Given the description of an element on the screen output the (x, y) to click on. 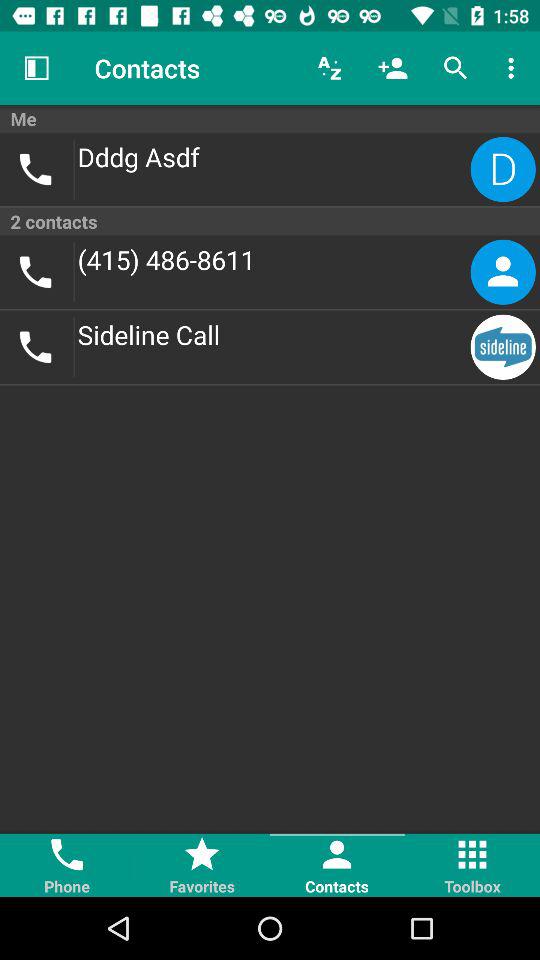
press icon above the me (513, 67)
